Given the description of an element on the screen output the (x, y) to click on. 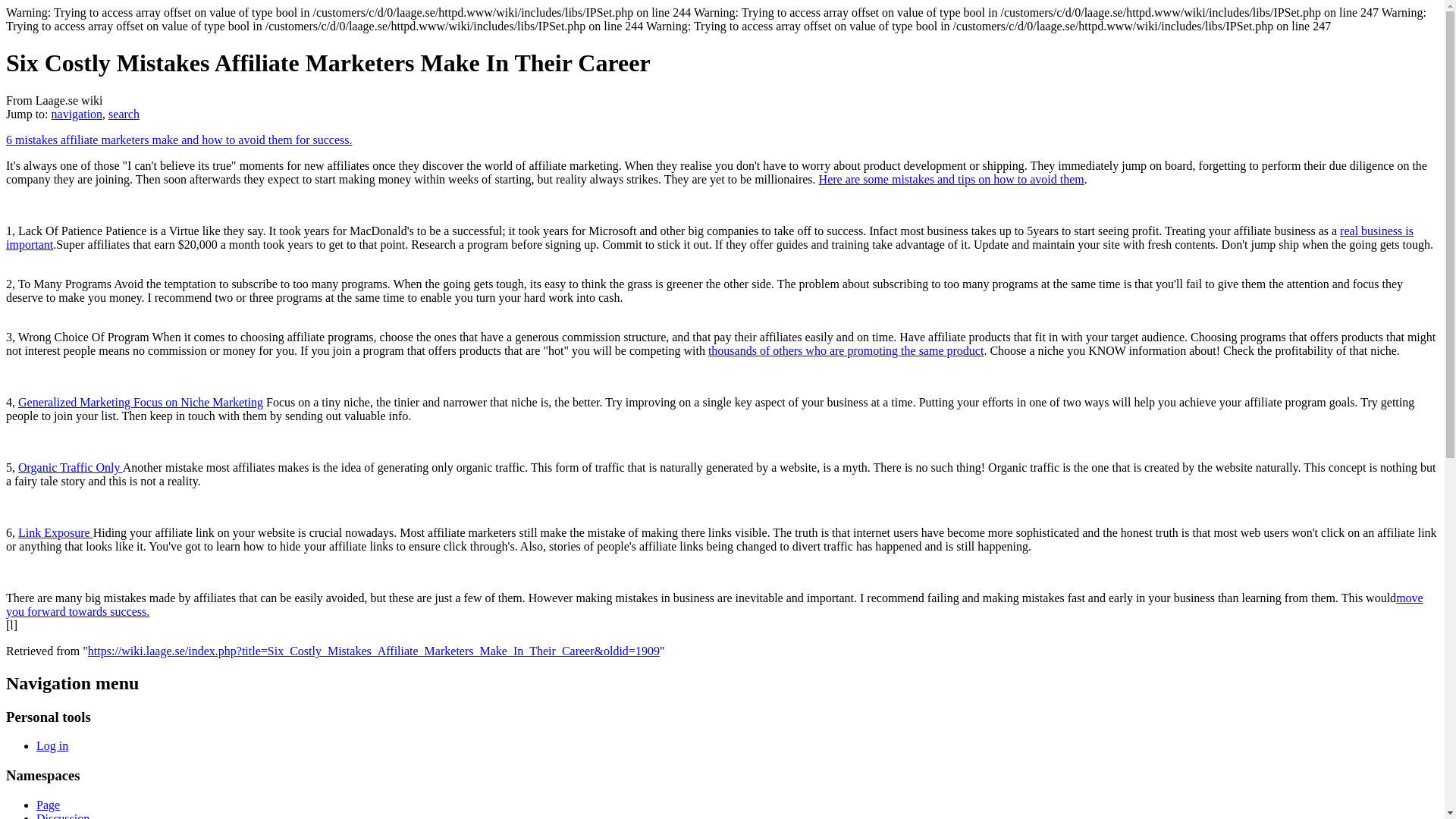
Log in (52, 745)
Page (47, 804)
Here are some mistakes and tips on how to avoid them (951, 178)
thousands of others who are promoting the same product (845, 350)
move you forward towards success. (714, 604)
search (123, 113)
Discussion (62, 815)
navigation (76, 113)
real business is important (709, 237)
Generalized Marketing Focus on Niche Marketing (140, 401)
Link Exposure (55, 532)
Organic Traffic Only (69, 467)
